Given the description of an element on the screen output the (x, y) to click on. 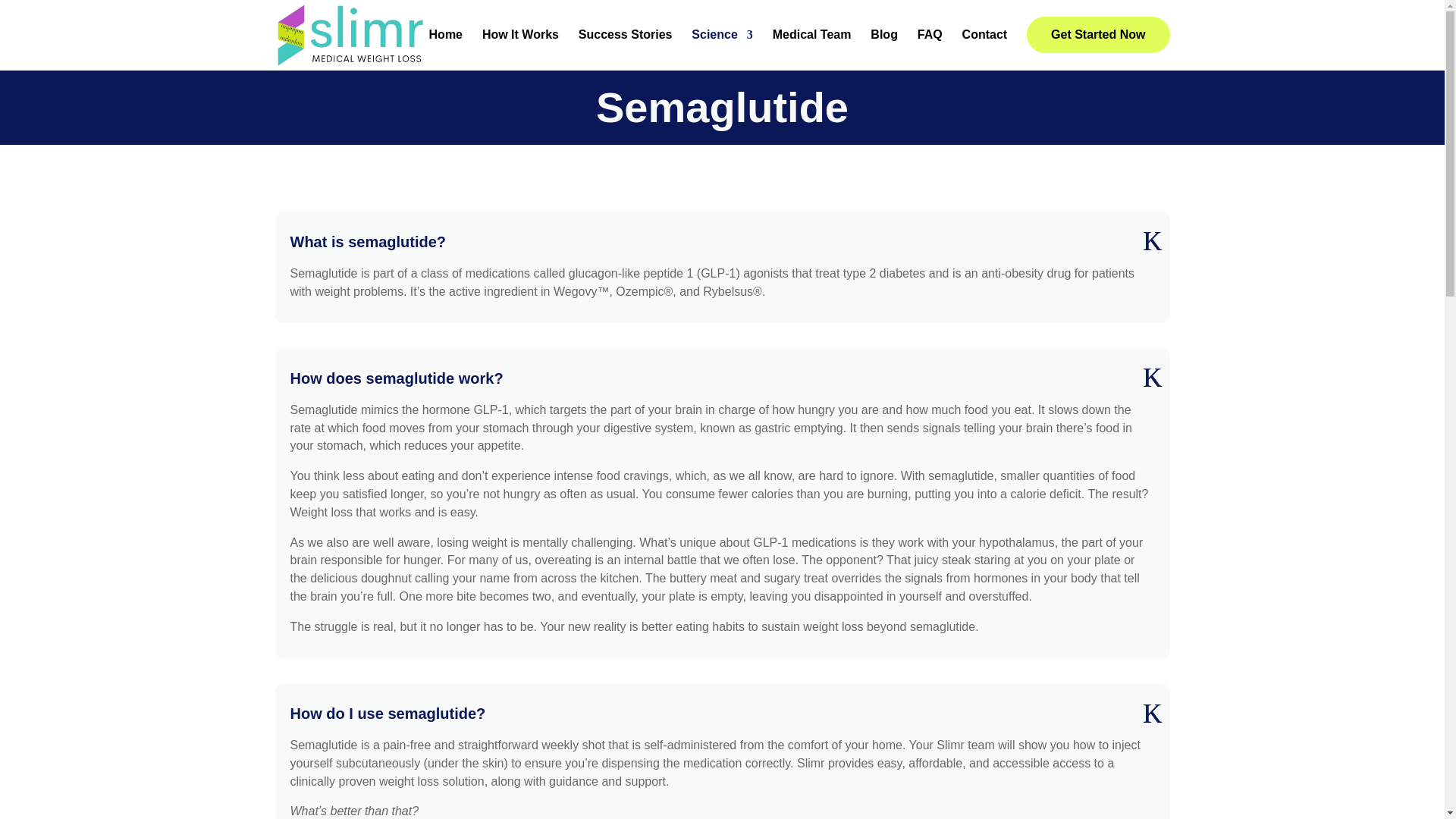
Contact (984, 47)
How It Works (520, 47)
Success Stories (625, 47)
Home (446, 47)
Get Started Now (1097, 34)
Medical Team (812, 47)
Science (721, 47)
